Given the description of an element on the screen output the (x, y) to click on. 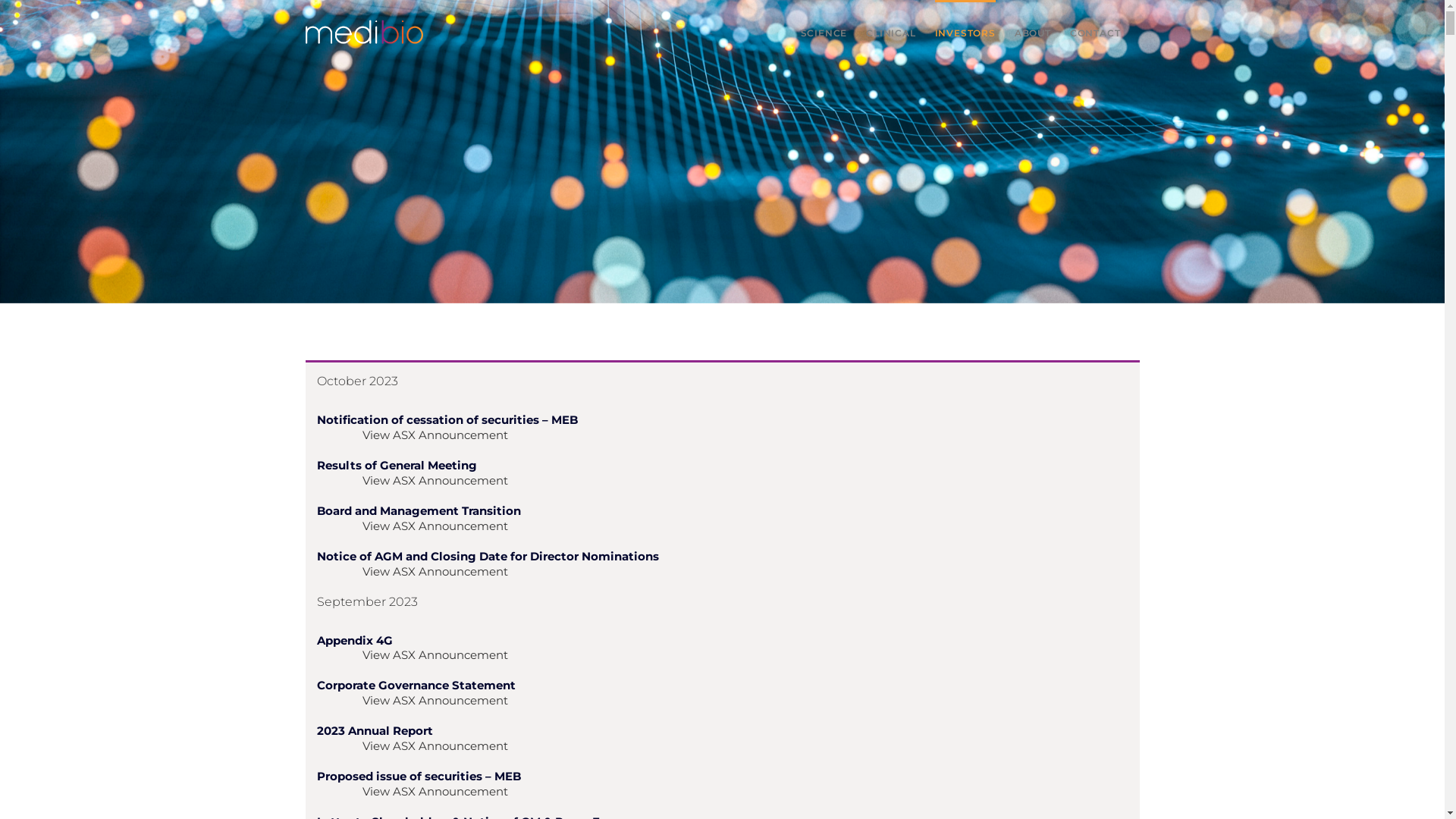
View ASX Announcement Element type: text (435, 654)
SCIENCE Element type: text (823, 31)
CONTACT Element type: text (1095, 31)
ABOUT Element type: text (1032, 31)
View ASX Announcement Element type: text (435, 571)
View ASX Announcement Element type: text (435, 525)
CLINICAL Element type: text (890, 31)
View ASX Announcement Element type: text (435, 434)
INVESTORS Element type: text (965, 31)
View ASX Announcement Element type: text (435, 745)
View ASX Announcement Element type: text (435, 791)
View ASX Announcement Element type: text (435, 480)
View ASX Announcement Element type: text (435, 700)
